Given the description of an element on the screen output the (x, y) to click on. 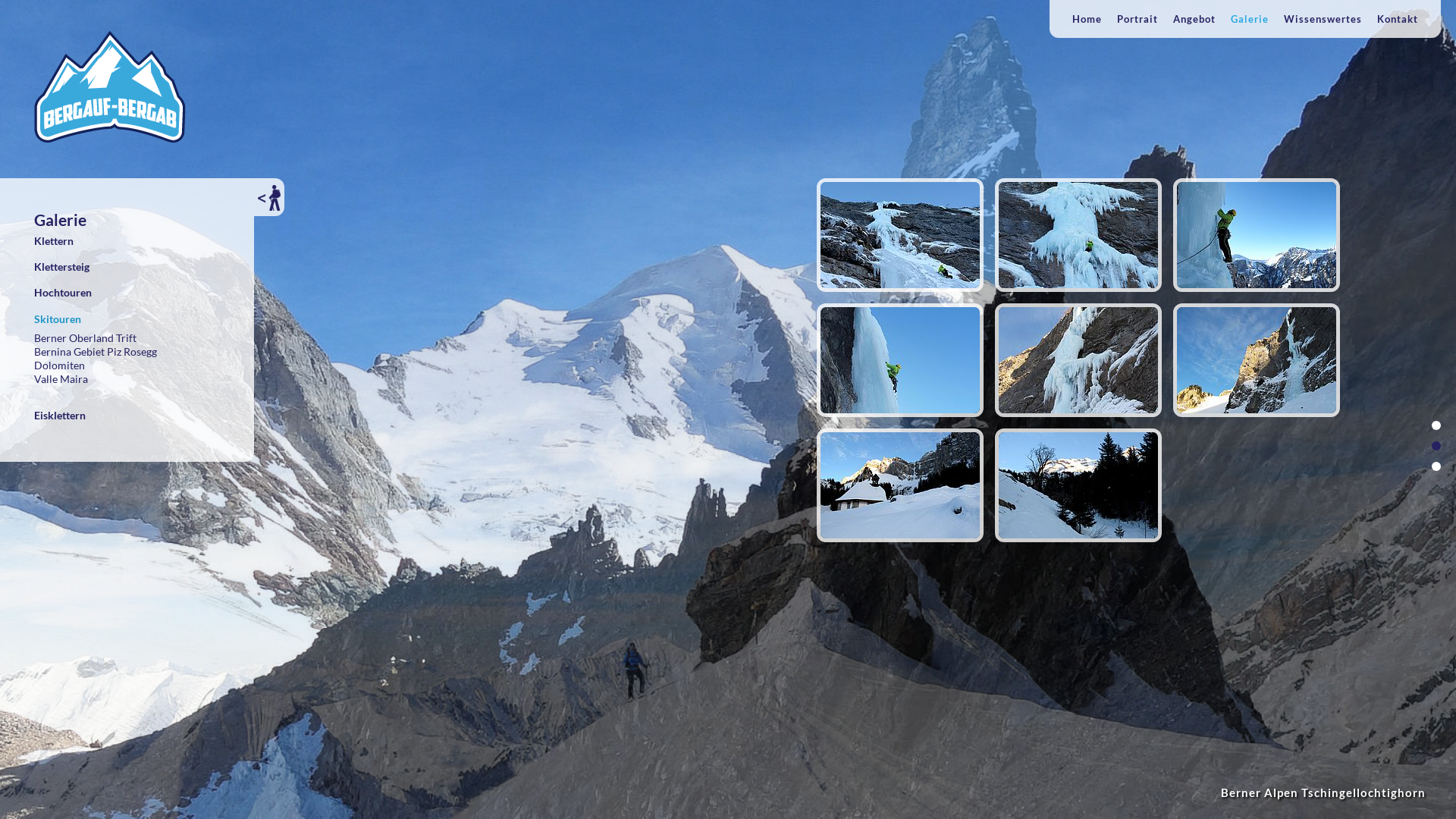
Galerie Element type: text (1249, 18)
Bernina Gebiet Piz Rosegg Element type: text (95, 351)
Home Element type: text (1086, 18)
Portrait Element type: text (1137, 18)
Valle Maira Element type: text (60, 378)
Kontakt Element type: text (1397, 18)
Berner Oberland Trift Element type: text (85, 337)
Wissenswertes Element type: text (1322, 18)
Dolomiten Element type: text (59, 364)
Angebot Element type: text (1194, 18)
